Given the description of an element on the screen output the (x, y) to click on. 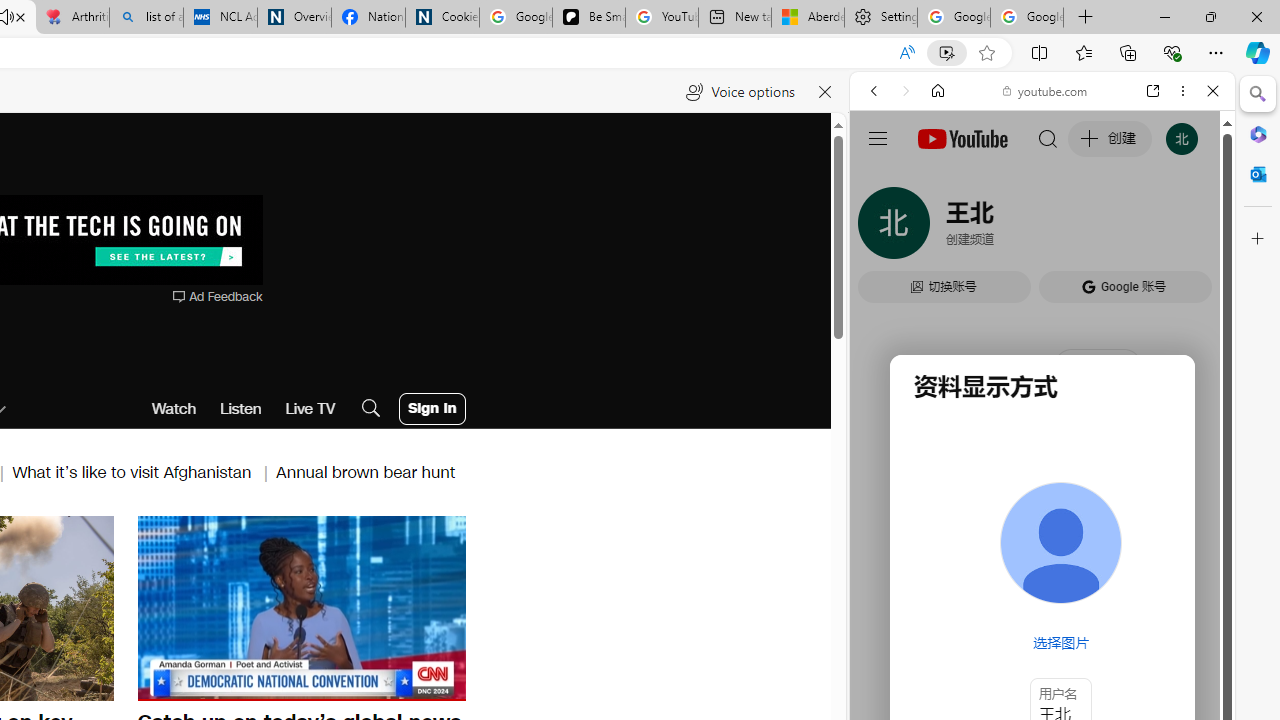
Captions Unavailable (350, 683)
Fullscreen (438, 683)
Live TV (310, 408)
Listen (241, 408)
